Given the description of an element on the screen output the (x, y) to click on. 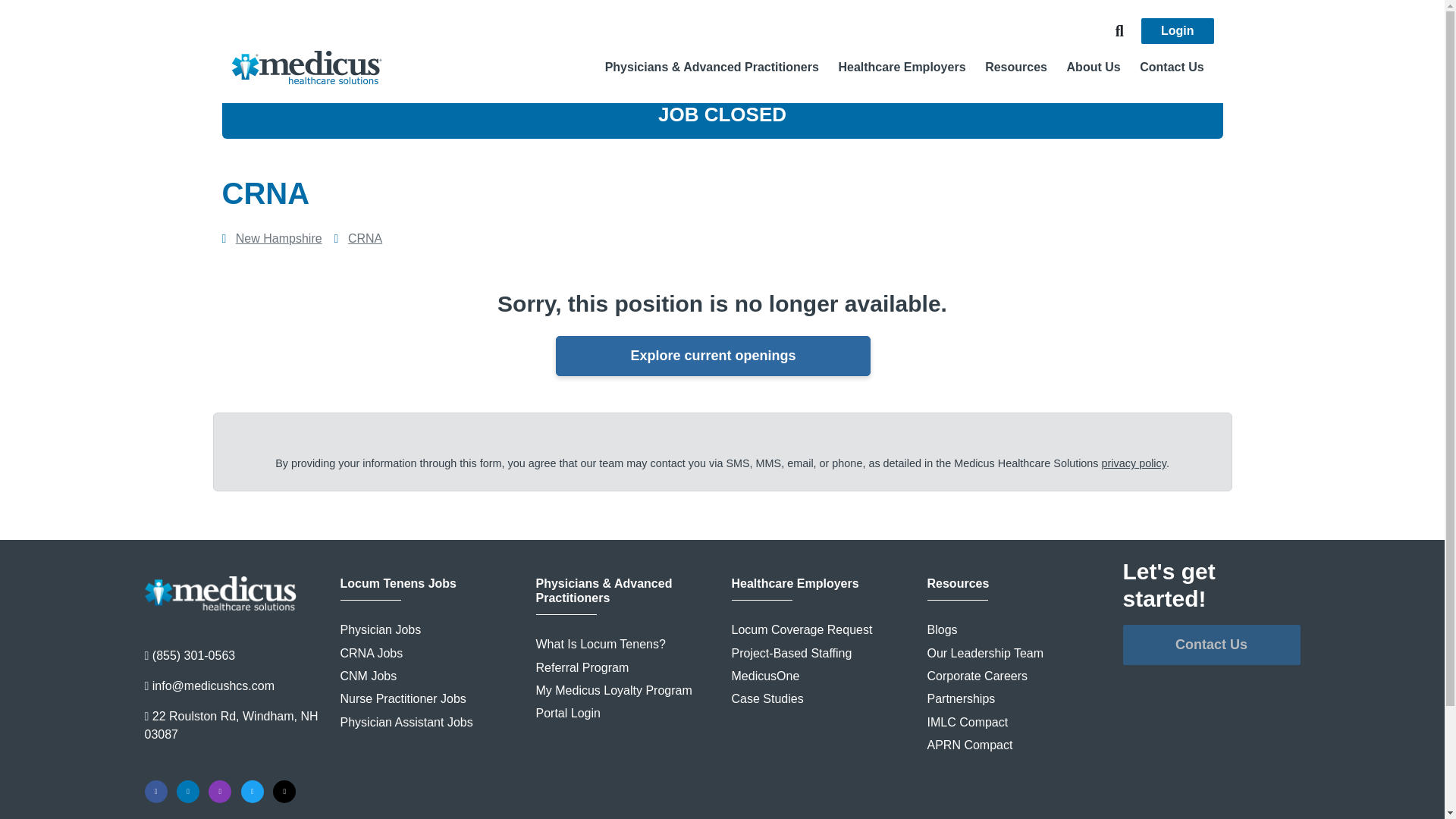
Login (1177, 31)
Login to medicusIQ (1177, 31)
